Given the description of an element on the screen output the (x, y) to click on. 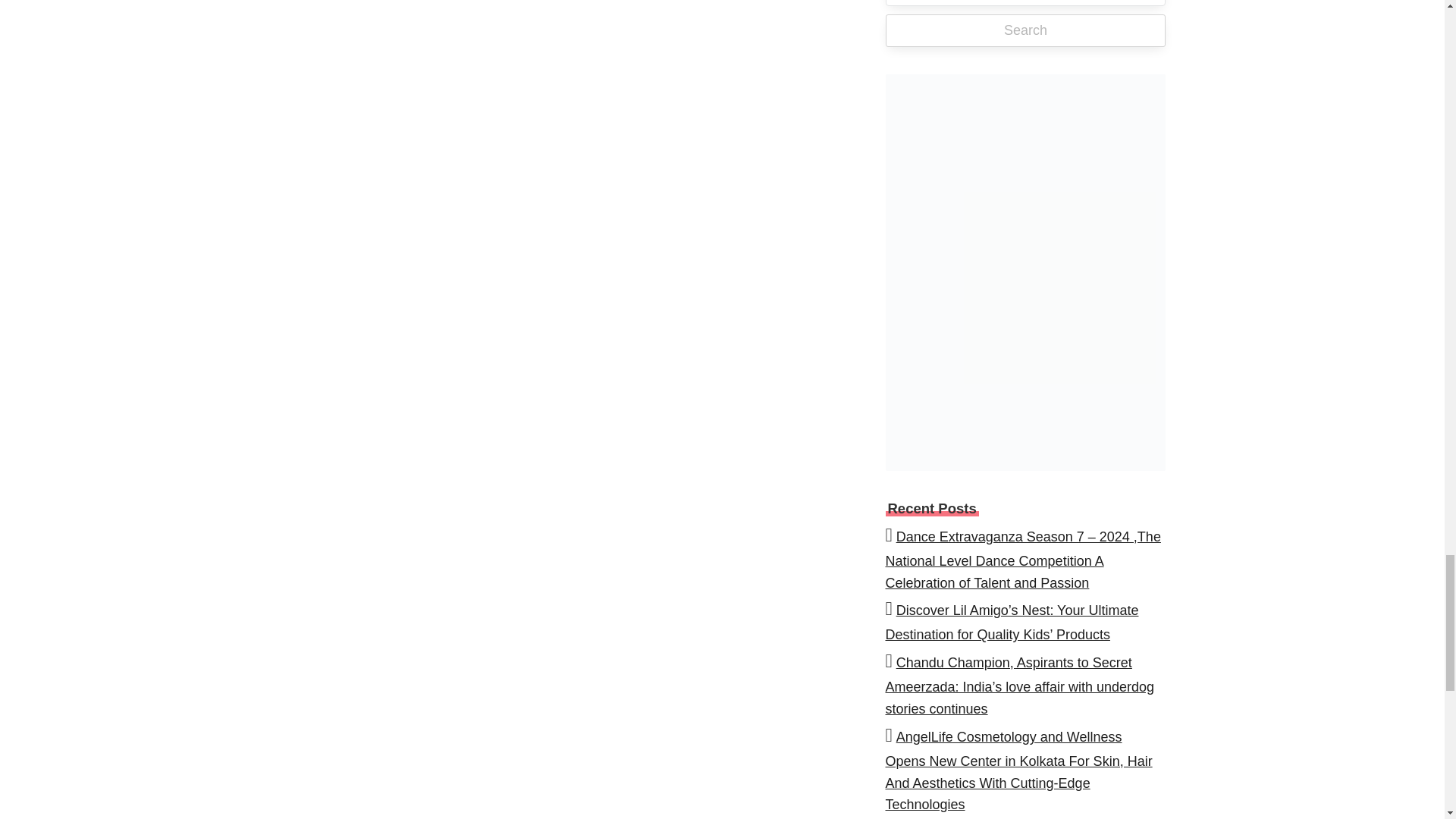
Search (1025, 30)
Search (1025, 30)
